Given the description of an element on the screen output the (x, y) to click on. 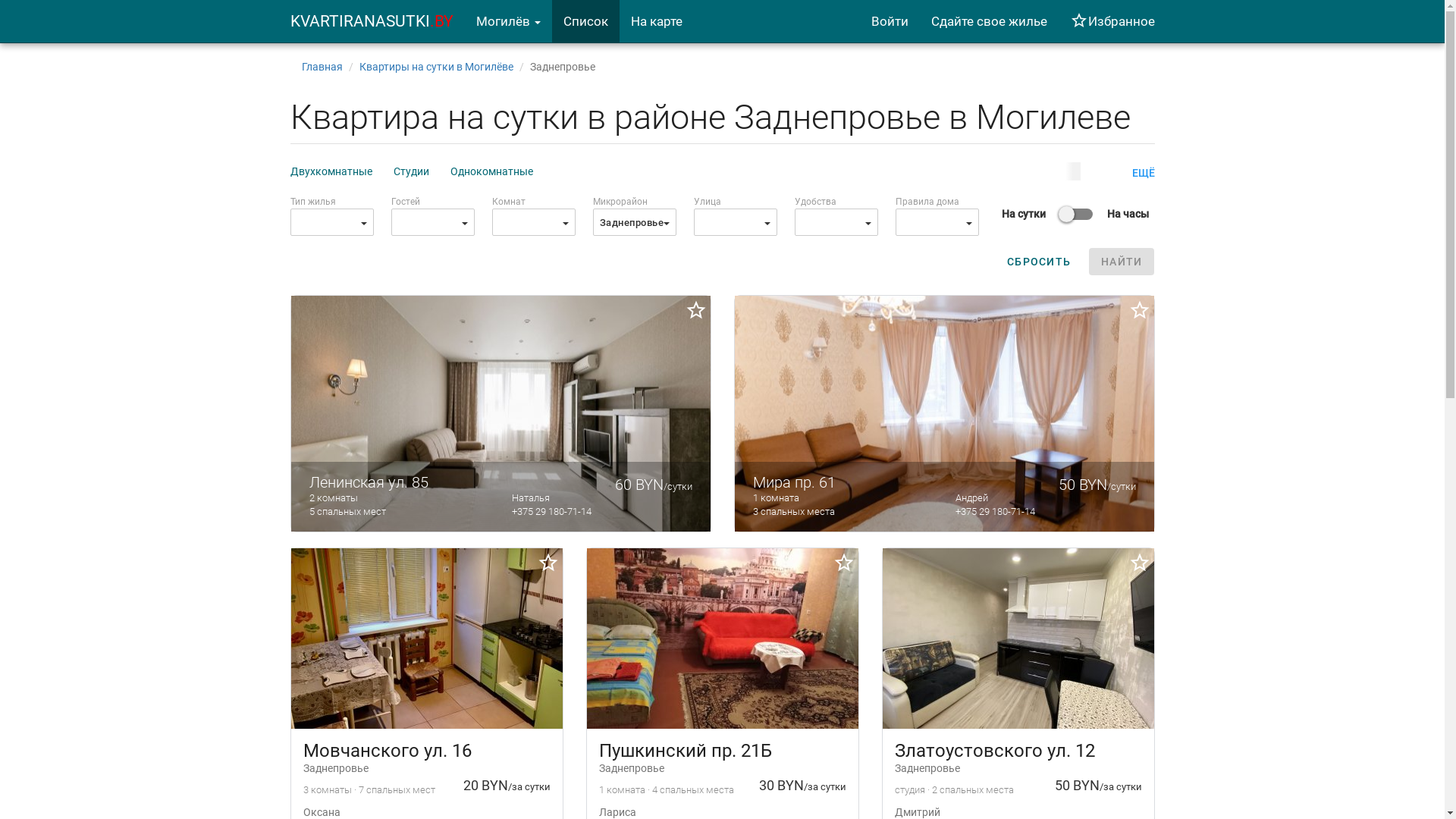
KVARTIRANASUTKI.BY Element type: text (371, 21)
